Given the description of an element on the screen output the (x, y) to click on. 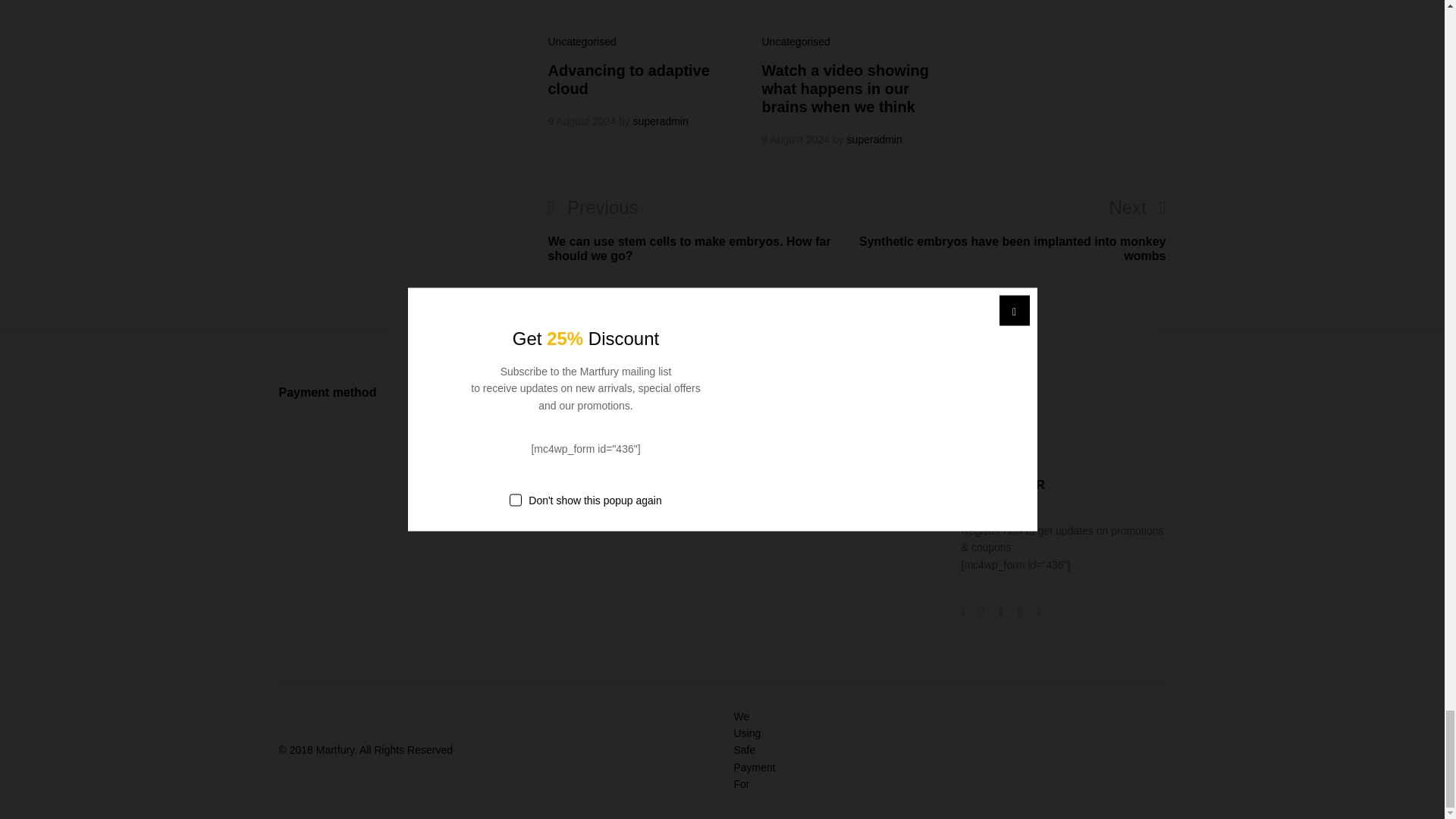
Uncategorised (795, 41)
Instagram (1000, 430)
superadmin (874, 139)
Facebook (962, 611)
9 August 2024 (581, 121)
Advancing to adaptive cloud (628, 79)
Twitter (981, 430)
9 August 2024 (795, 139)
superadmin (660, 121)
